Given the description of an element on the screen output the (x, y) to click on. 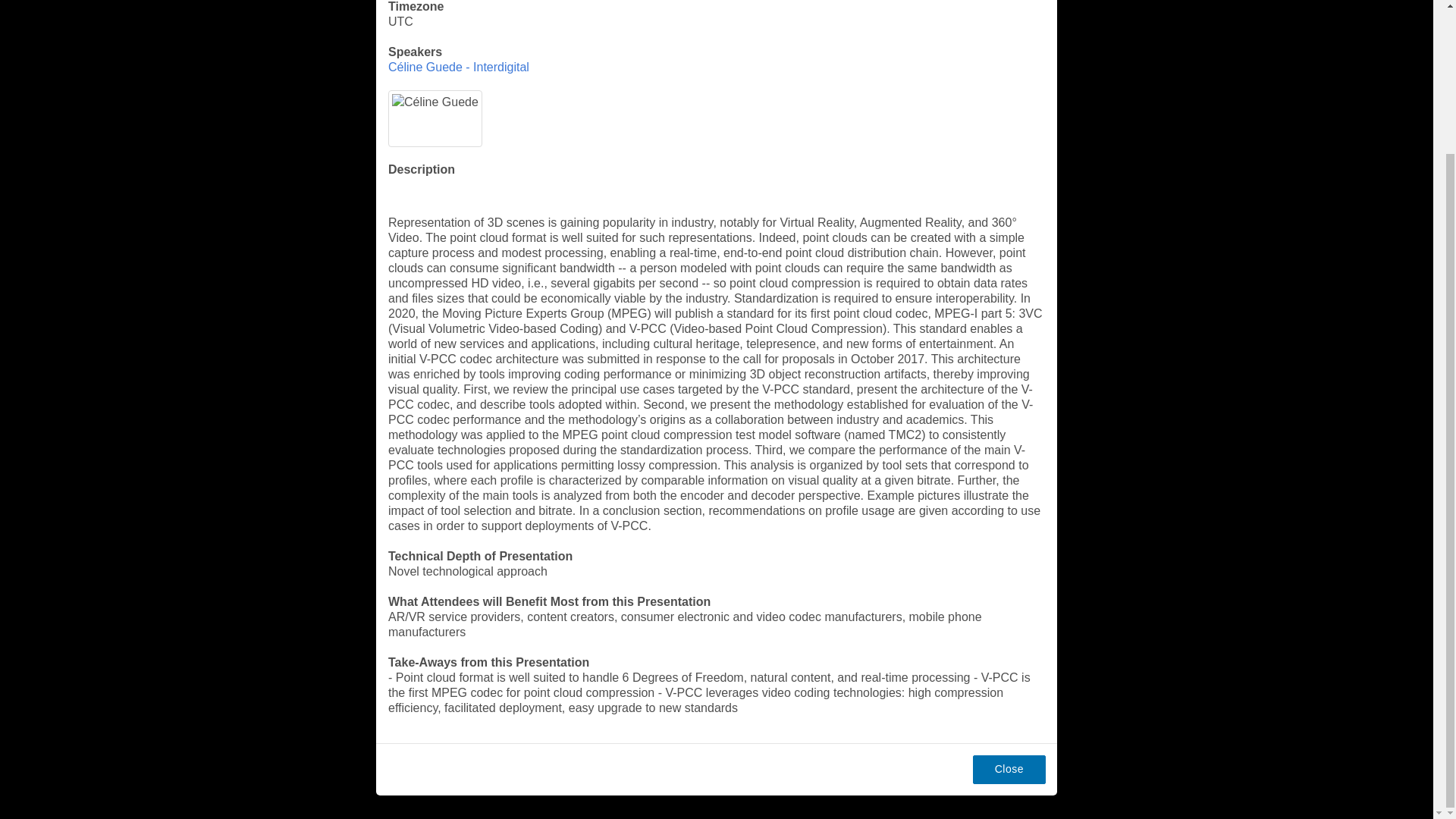
Speaker Details (458, 66)
Close (1008, 769)
